Given the description of an element on the screen output the (x, y) to click on. 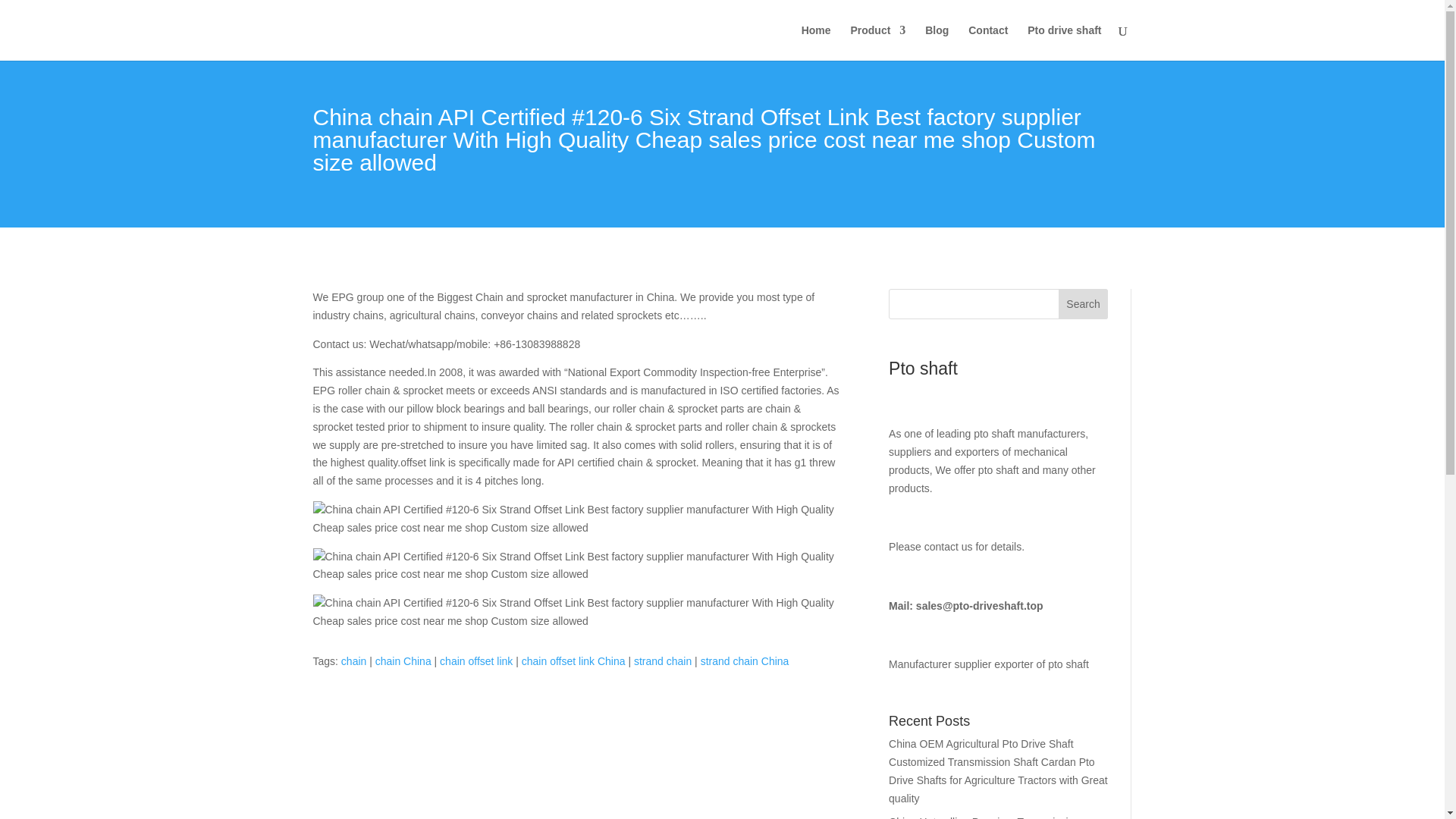
Search (1083, 304)
chain offset link China (573, 661)
chain offset link (475, 661)
Pto drive shaft (1063, 42)
Product (877, 42)
Contact (987, 42)
strand chain (662, 661)
chain (353, 661)
